Given the description of an element on the screen output the (x, y) to click on. 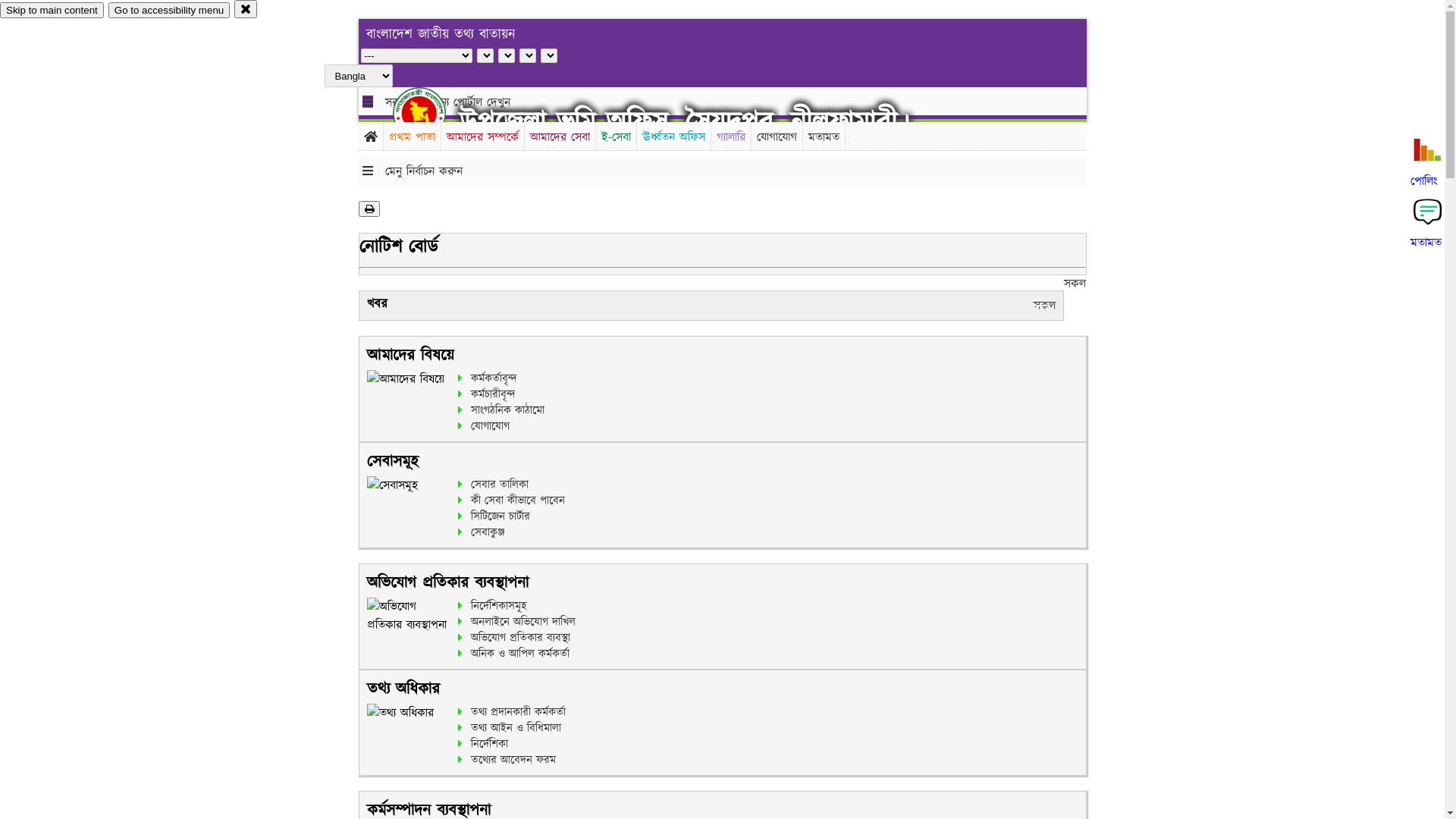
Go to accessibility menu Element type: text (168, 10)
Skip to main content Element type: text (51, 10)
close Element type: hover (245, 9)

                
             Element type: hover (431, 112)
